Given the description of an element on the screen output the (x, y) to click on. 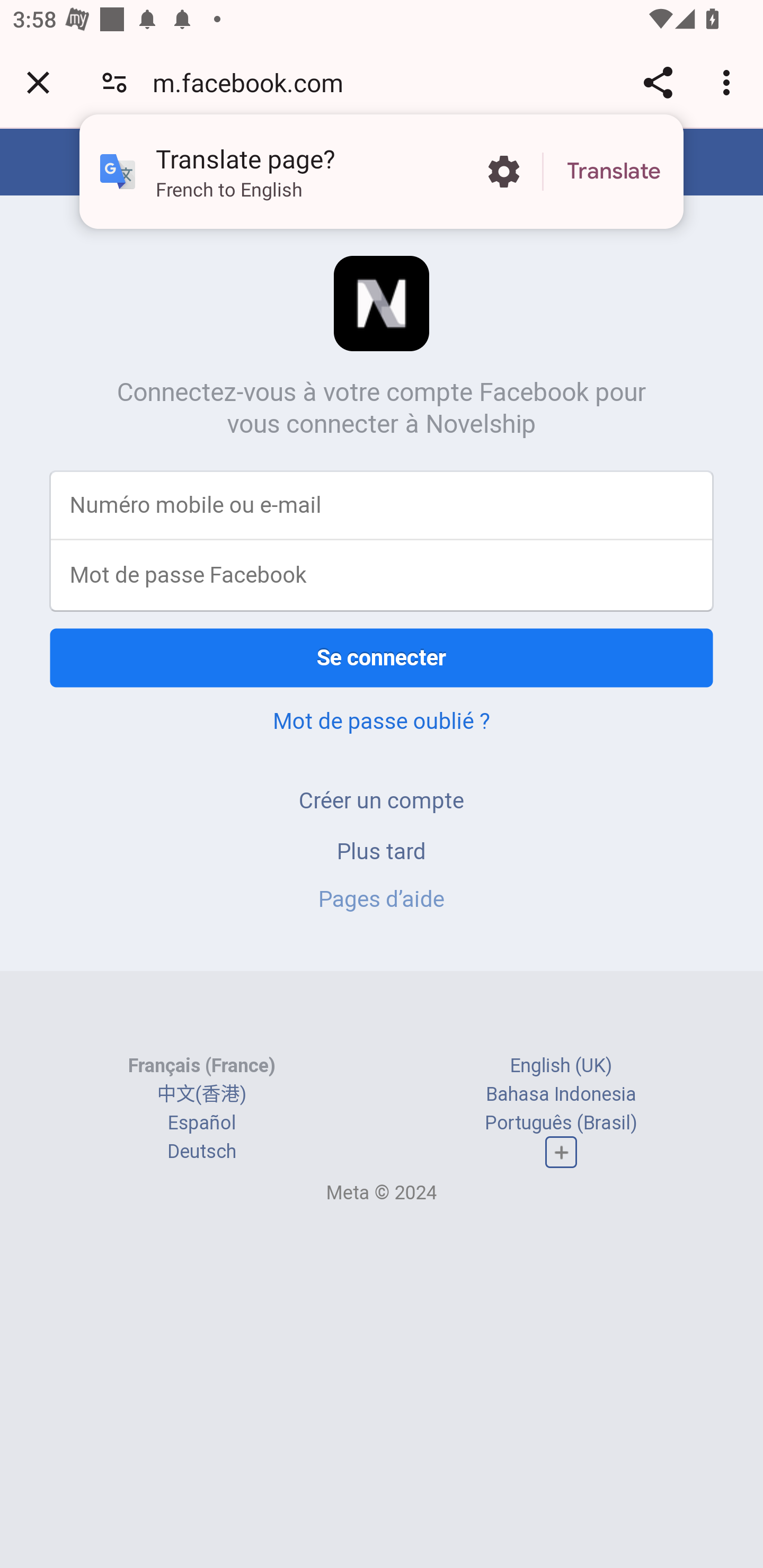
Close tab (38, 82)
Share (657, 82)
Customize and control Google Chrome (729, 82)
Connection is secure (114, 81)
m.facebook.com (254, 81)
Translate (613, 171)
More options in the Translate page? (503, 171)
Se connecter (381, 657)
Mot de passe oublié ? (381, 720)
Créer un compte (381, 800)
Plus tard (381, 850)
Pages d’aide (381, 898)
English (UK) (560, 1065)
中文(香港) (201, 1093)
Bahasa Indonesia (560, 1093)
Español (201, 1122)
Português (Brasil) (560, 1122)
Liste complète des langues (560, 1152)
Deutsch (201, 1151)
